Given the description of an element on the screen output the (x, y) to click on. 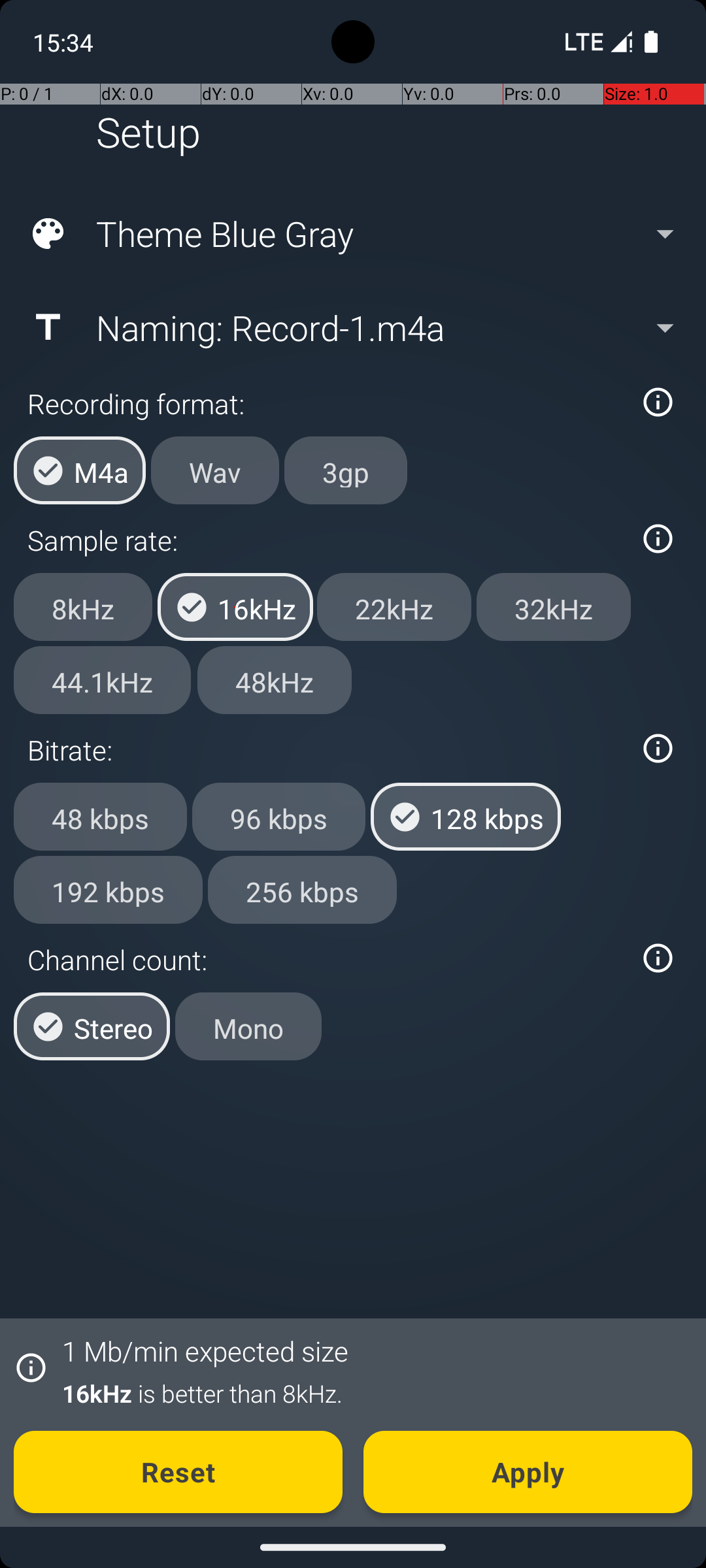
16kHz is better than 8kHz. Element type: android.widget.TextView (370, 1392)
